Given the description of an element on the screen output the (x, y) to click on. 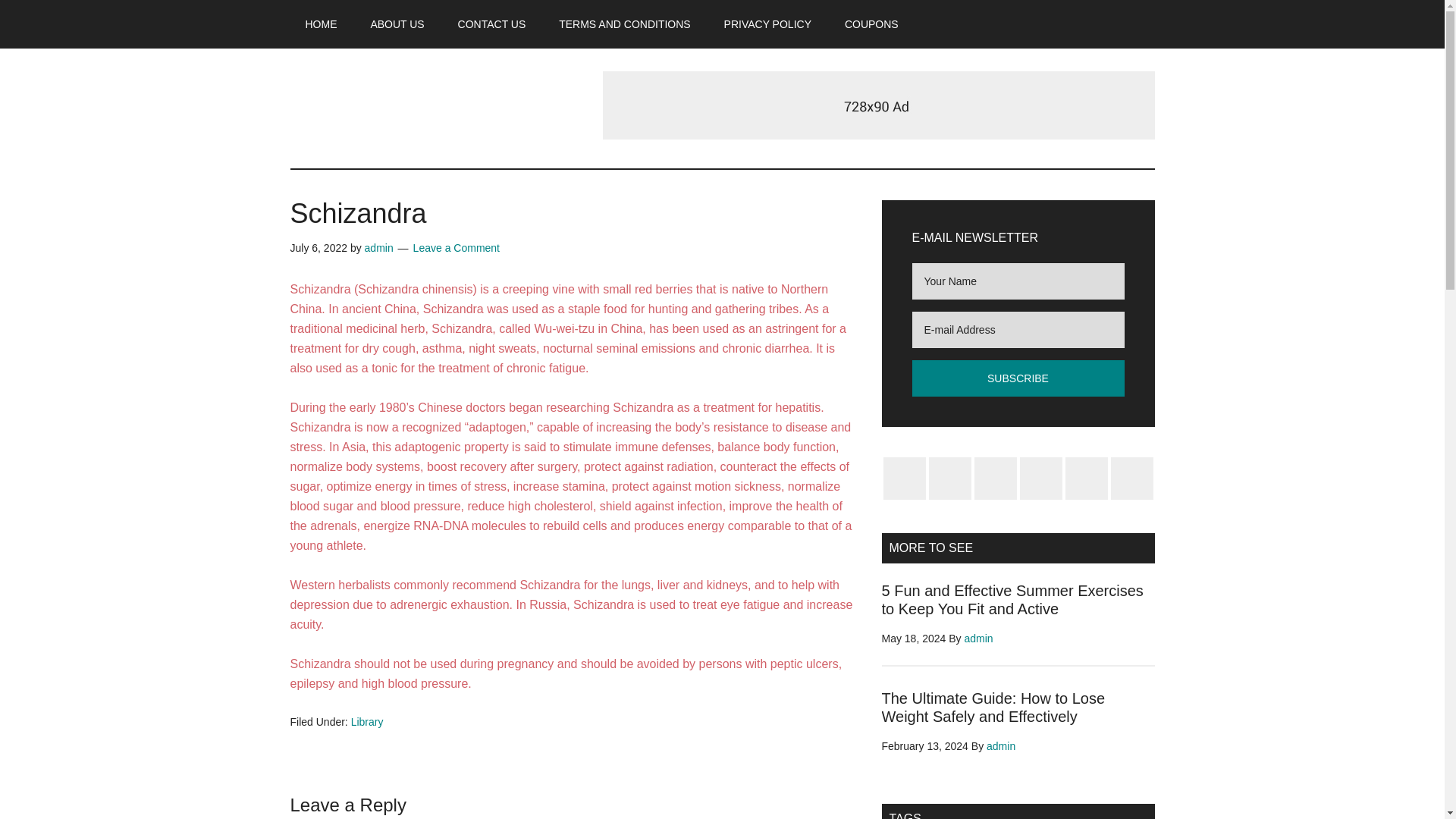
ABOUT US (397, 24)
CONTACT US (491, 24)
Subscribe (1017, 378)
HOME (320, 24)
Library (367, 721)
Leave a Comment (456, 247)
admin (379, 247)
admin (977, 638)
TERMS AND CONDITIONS (623, 24)
PRIVACY POLICY (768, 24)
COUPONS (871, 24)
admin (1000, 746)
